Given the description of an element on the screen output the (x, y) to click on. 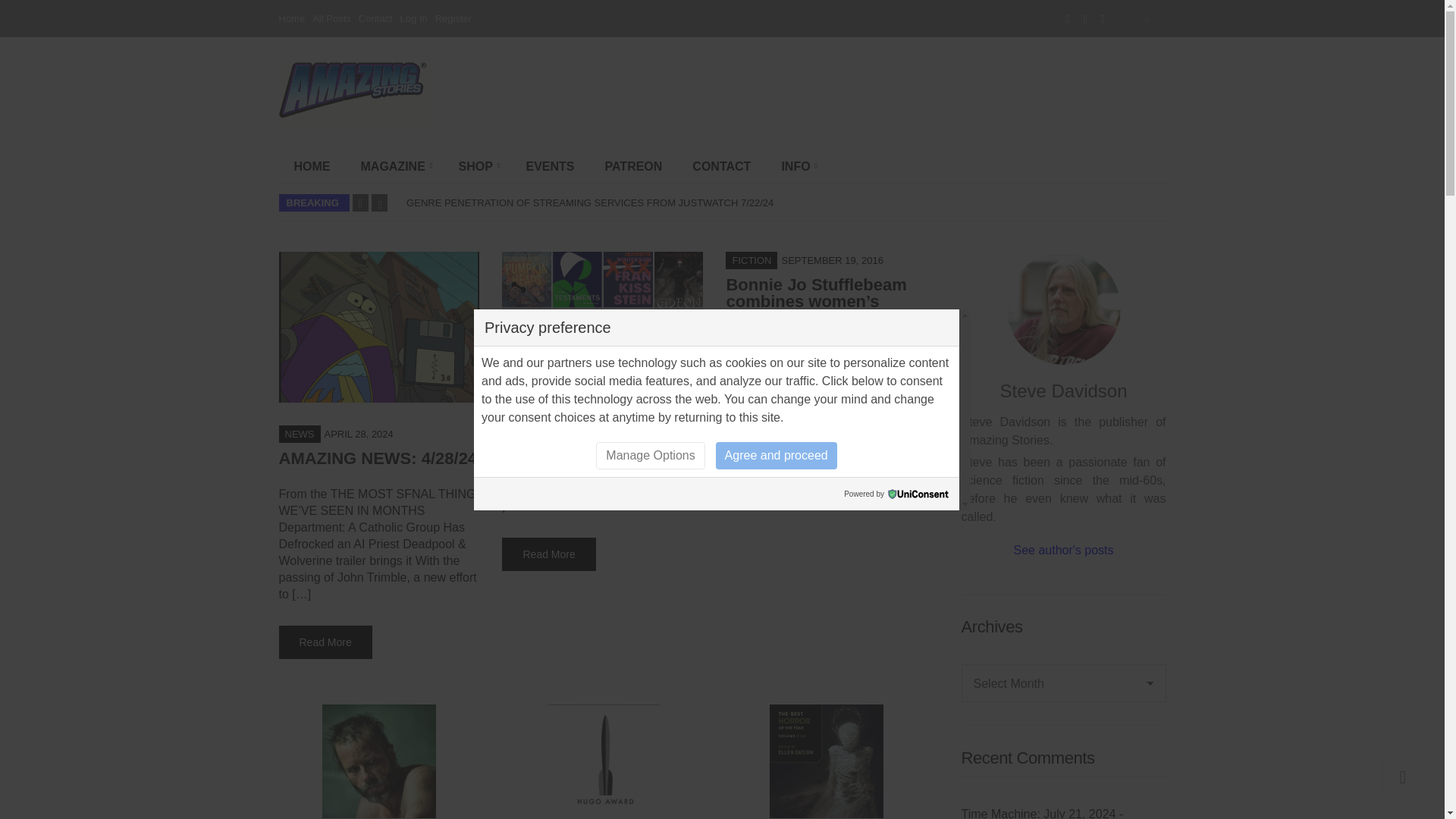
INFO (796, 166)
HOME (312, 166)
Twitter (1085, 18)
Home (292, 18)
Register (453, 18)
PATREON (633, 166)
All Posts (331, 18)
Advertisement (874, 93)
GDPR CMP - Cookie Consent Manager (918, 493)
CONTACT (721, 166)
Facebook (1068, 18)
Contact (375, 18)
GDPR CMP - Cookie Consent Manager (918, 493)
RSS (1102, 18)
Log In (414, 18)
